Given the description of an element on the screen output the (x, y) to click on. 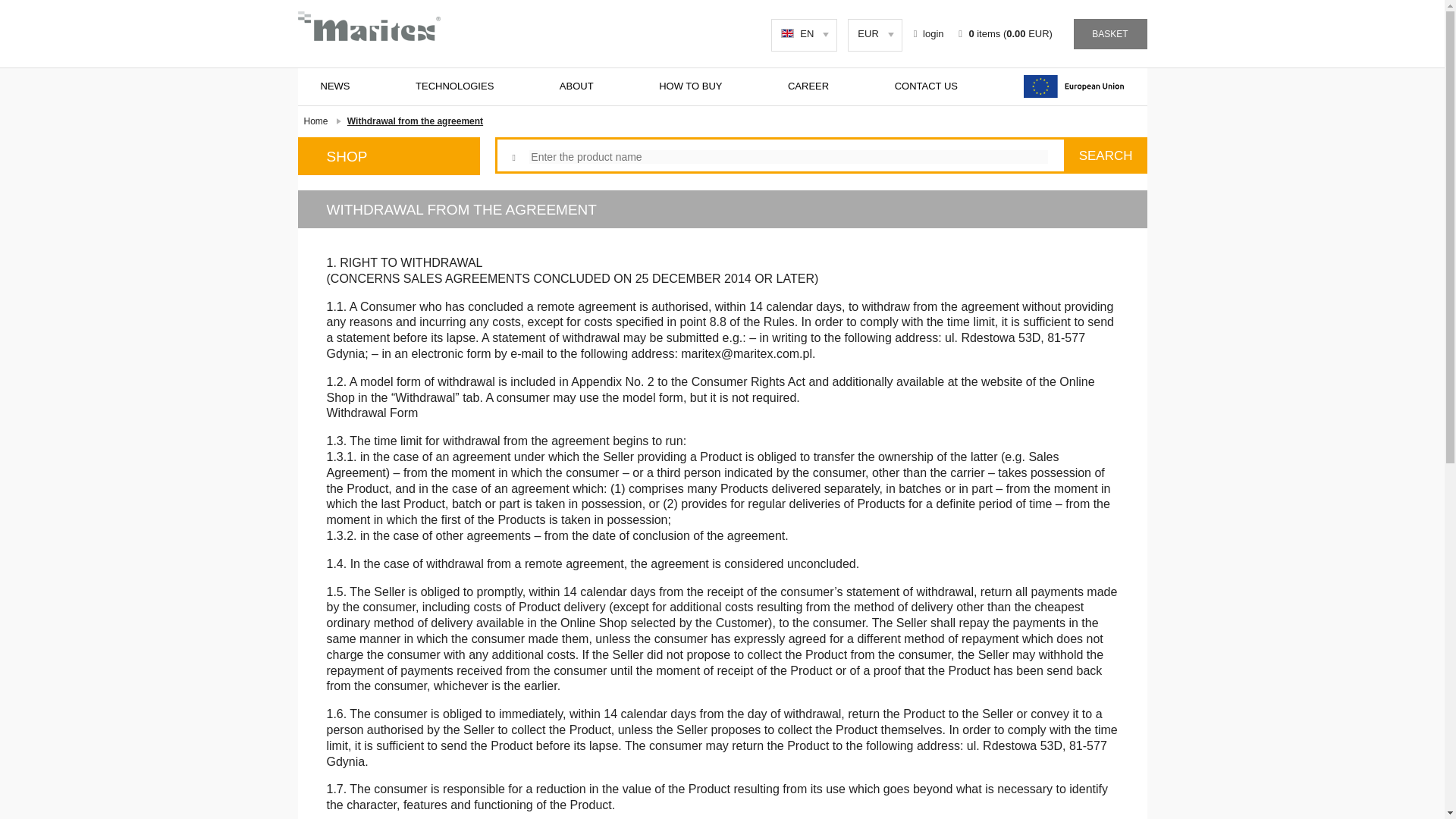
BASKET (1110, 33)
login (930, 33)
ABOUT (576, 86)
CAREER (807, 86)
HOW TO BUY (690, 86)
TECHNOLOGIES (453, 86)
